Given the description of an element on the screen output the (x, y) to click on. 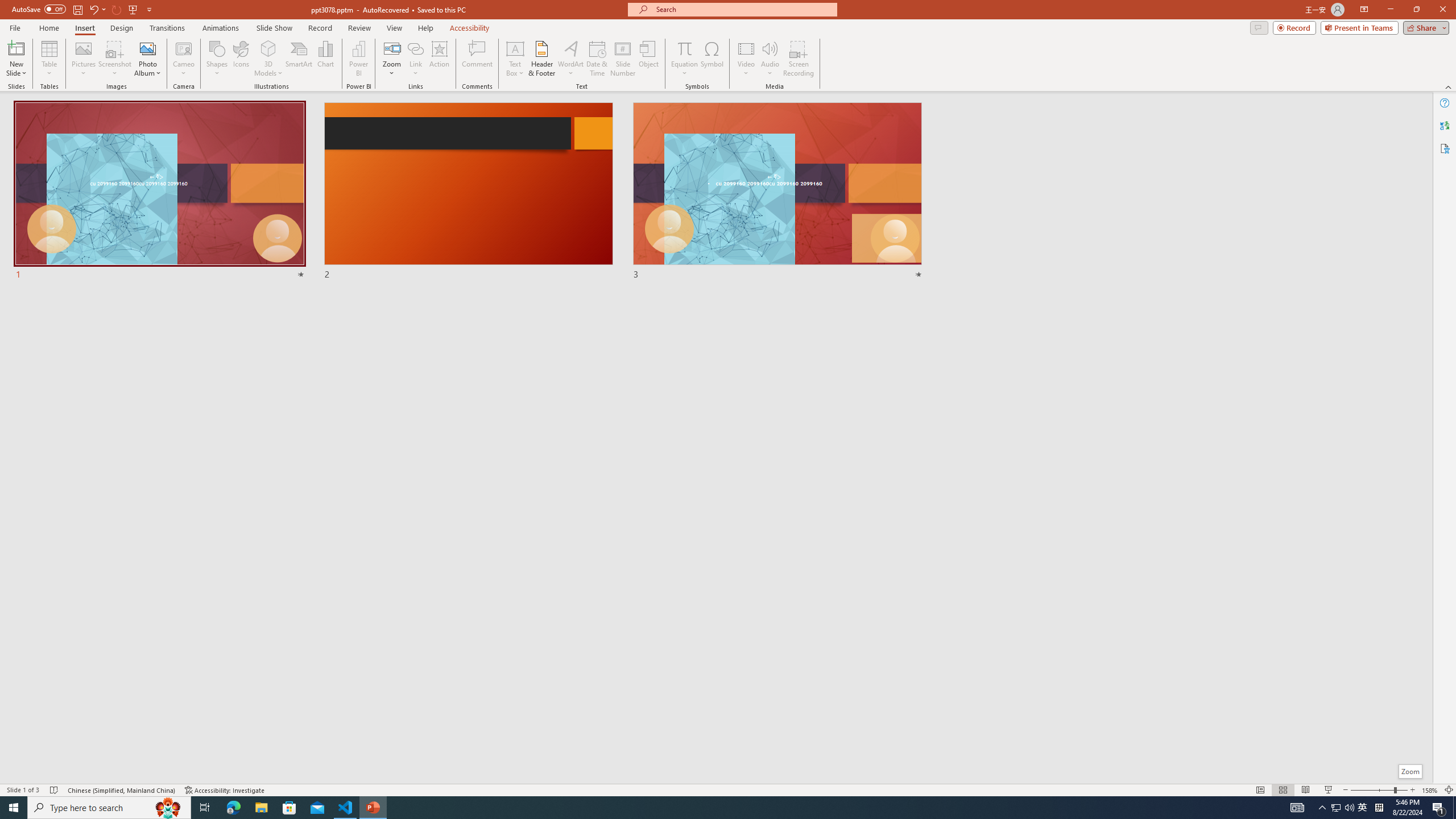
Screenshot (114, 58)
SmartArt... (298, 58)
Draw Horizontal Text Box (515, 48)
Zoom 158% (1430, 790)
Header & Footer... (541, 58)
Symbol... (711, 58)
3D Models (268, 58)
